Given the description of an element on the screen output the (x, y) to click on. 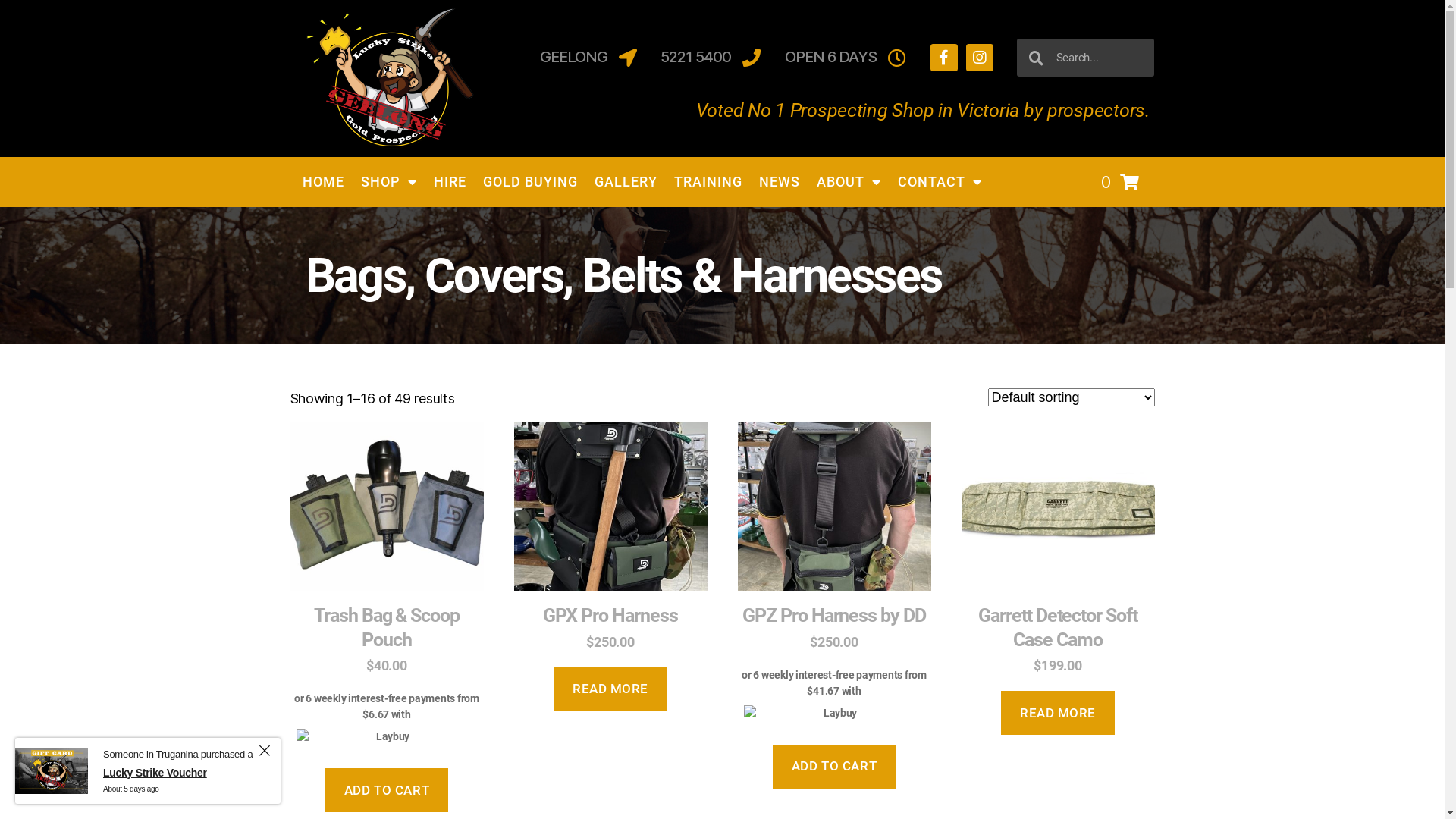
ABOUT Element type: text (848, 181)
OPEN 6 DAYS Element type: text (845, 57)
GPX Pro Harness
$250.00 Element type: text (610, 536)
HOME Element type: text (323, 181)
Garrett Detector Soft Case Camo
$199.00 Element type: text (1057, 548)
TRAINING Element type: text (707, 181)
SHOP Element type: text (387, 181)
5221 5400 Element type: text (710, 57)
GOLD BUYING Element type: text (530, 181)
HIRE Element type: text (448, 181)
ADD TO CART Element type: text (833, 766)
GALLERY Element type: text (625, 181)
GEELONG Element type: text (588, 57)
NEWS Element type: text (779, 181)
READ MORE Element type: text (1057, 712)
READ MORE Element type: text (609, 689)
ADD TO CART Element type: text (386, 790)
CONTACT Element type: text (938, 181)
